Given the description of an element on the screen output the (x, y) to click on. 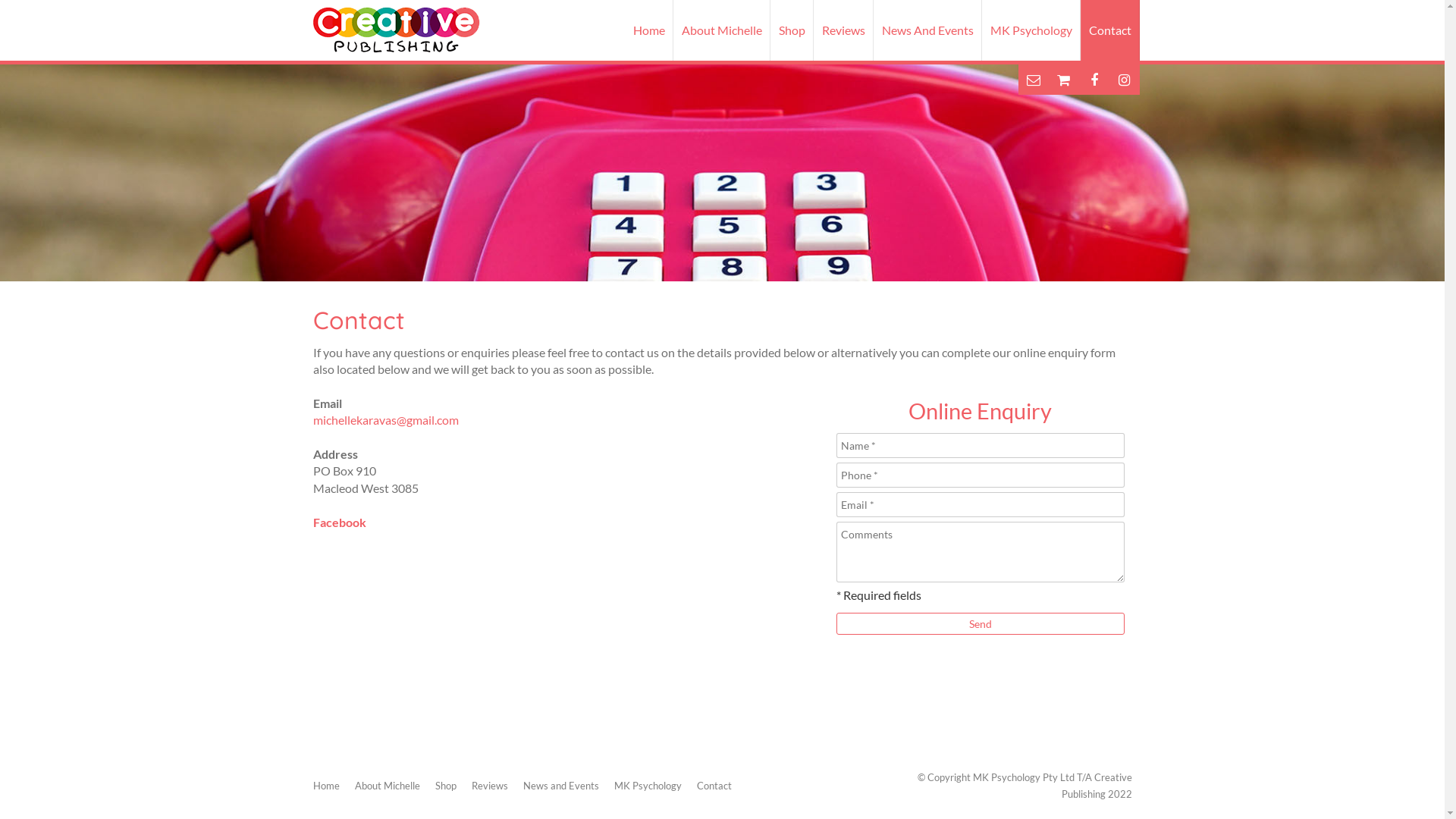
Facebook Element type: text (338, 521)
Send Element type: text (979, 623)
About Michelle Element type: text (387, 785)
About Michelle Element type: text (721, 30)
Home Element type: text (325, 785)
MK Psychology Element type: text (1030, 30)
Reviews Element type: text (842, 30)
Contact Element type: text (713, 785)
Reviews Element type: text (489, 785)
News And Events Element type: text (927, 30)
michellekaravas@gmail.com Element type: text (385, 419)
Shop Element type: text (445, 785)
MK Psychology Element type: text (647, 785)
Shop Element type: text (791, 30)
News and Events Element type: text (560, 785)
Contact Element type: text (1109, 30)
Home Element type: text (648, 30)
